Given the description of an element on the screen output the (x, y) to click on. 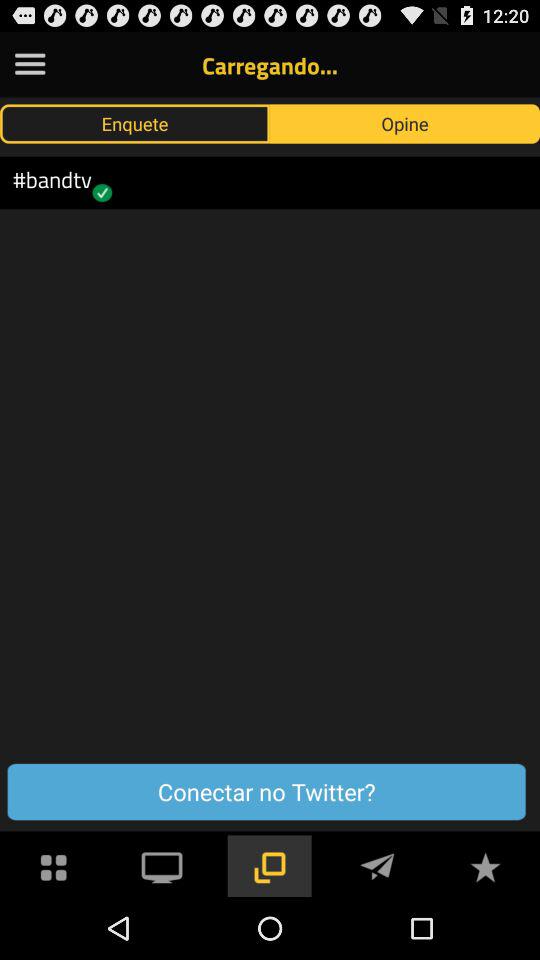
select the button at the top right corner (405, 123)
